Given the description of an element on the screen output the (x, y) to click on. 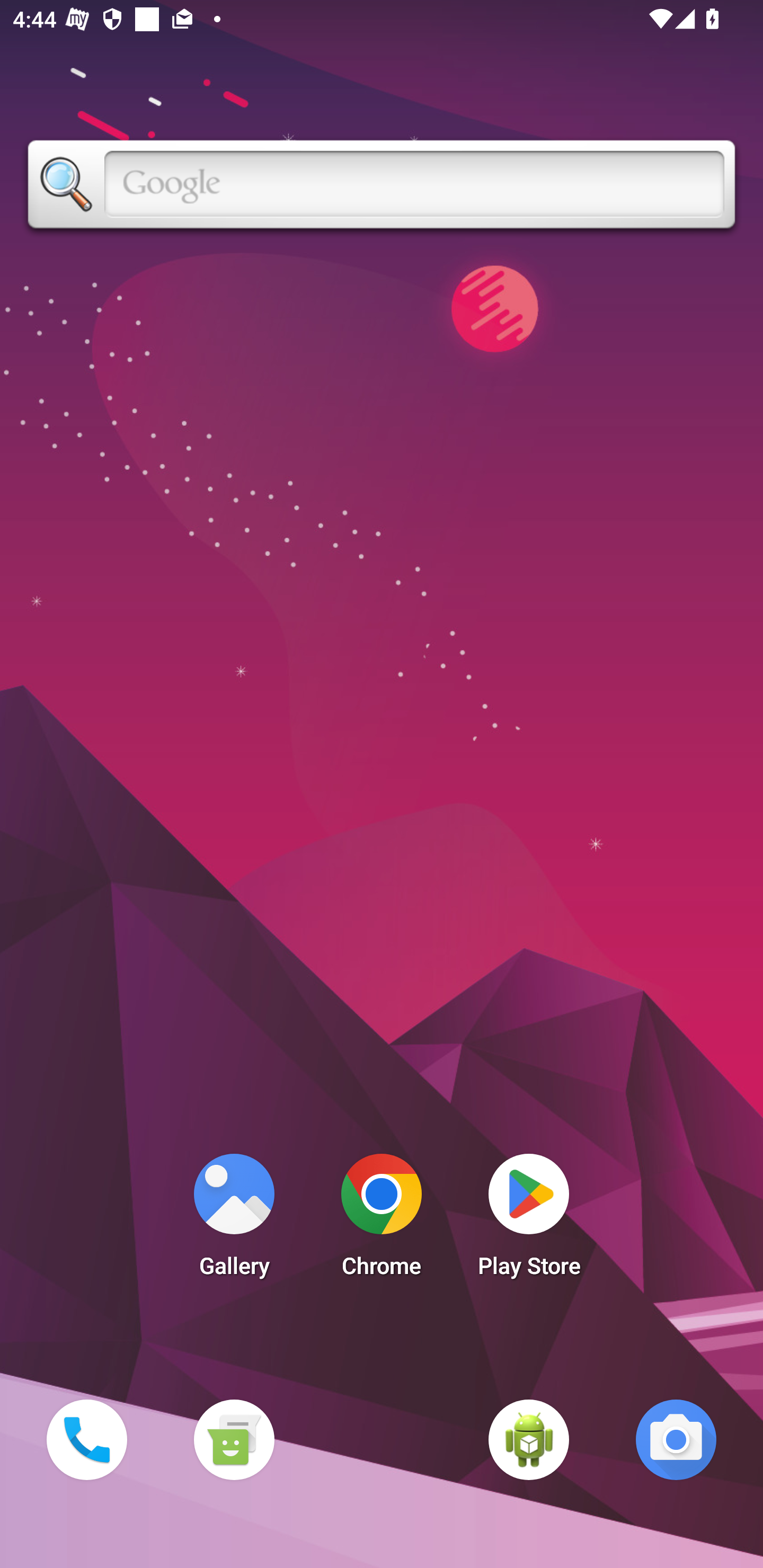
Gallery (233, 1220)
Chrome (381, 1220)
Play Store (528, 1220)
Phone (86, 1439)
Messaging (233, 1439)
WebView Browser Tester (528, 1439)
Camera (676, 1439)
